Given the description of an element on the screen output the (x, y) to click on. 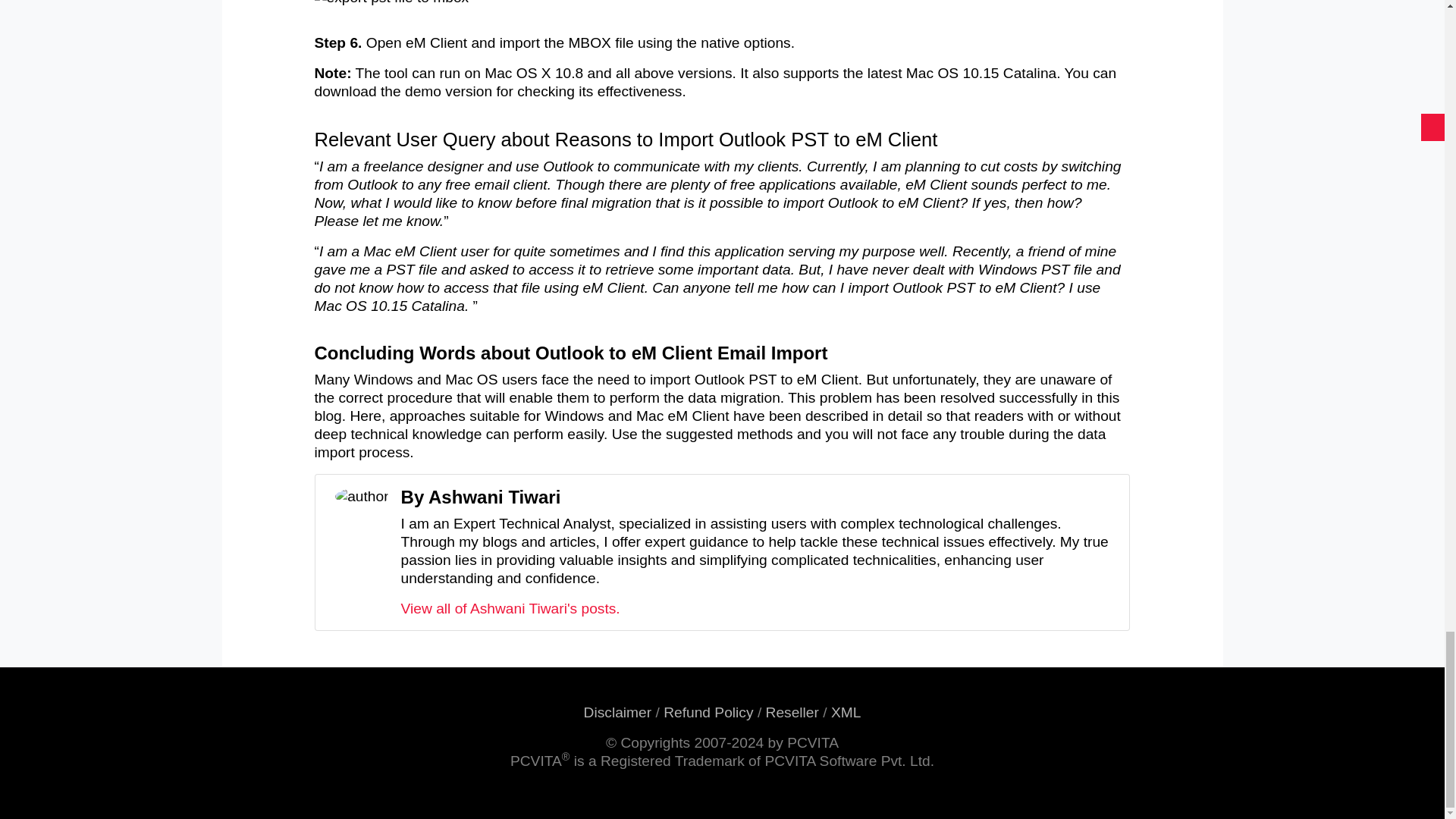
View all of Ashwani Tiwari's posts. (510, 608)
Reseller (791, 712)
Disclaimer (617, 712)
Refund Policy (707, 712)
XML (845, 712)
